Given the description of an element on the screen output the (x, y) to click on. 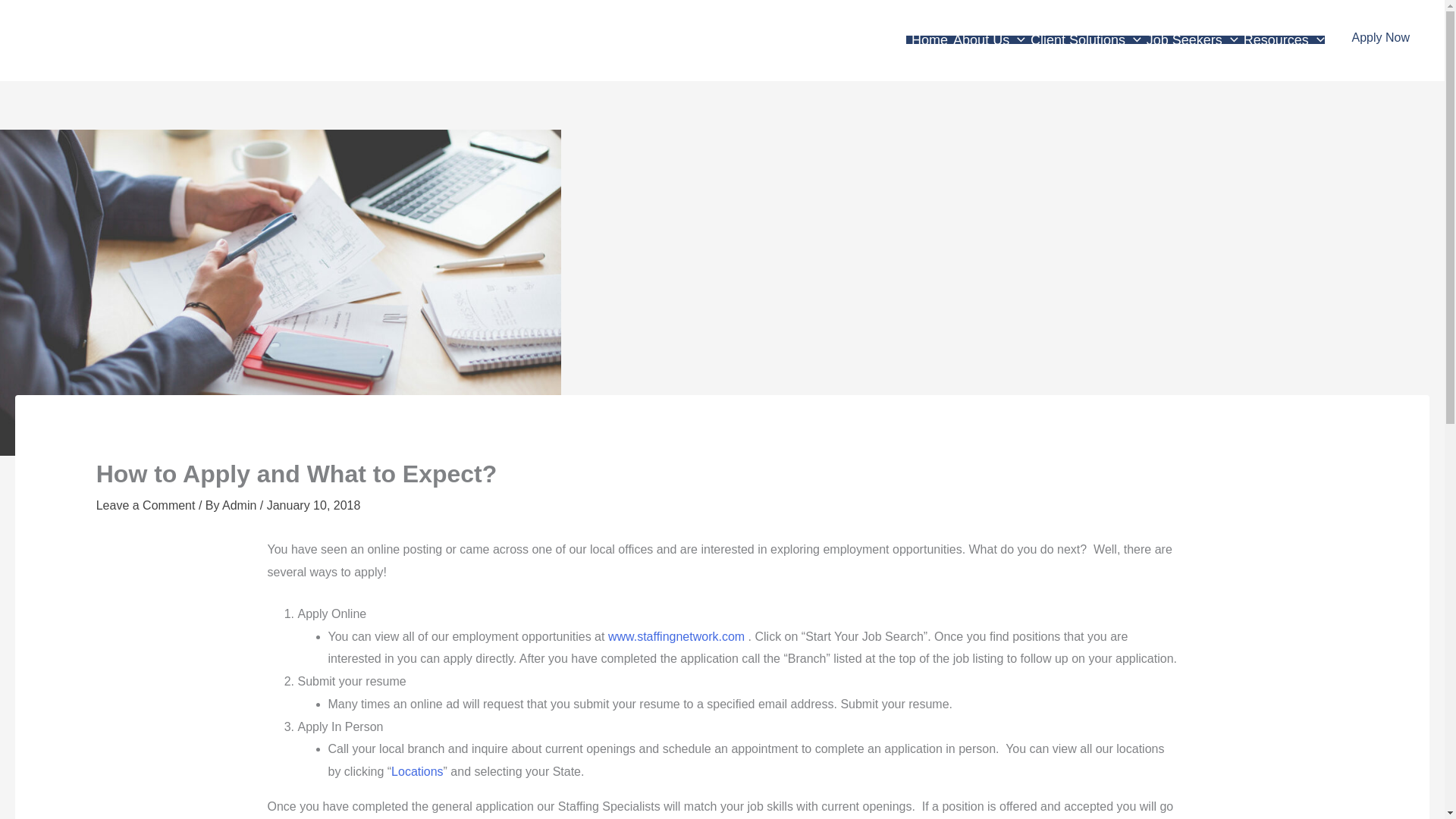
Job Seekers (1190, 40)
Resources (1281, 40)
www.staffingnetwork.com (676, 635)
Locations (417, 771)
Admin (241, 504)
Apply Now (1380, 37)
Leave a Comment (145, 504)
About Us (986, 40)
View all posts by Admin (241, 504)
Home (926, 40)
